Given the description of an element on the screen output the (x, y) to click on. 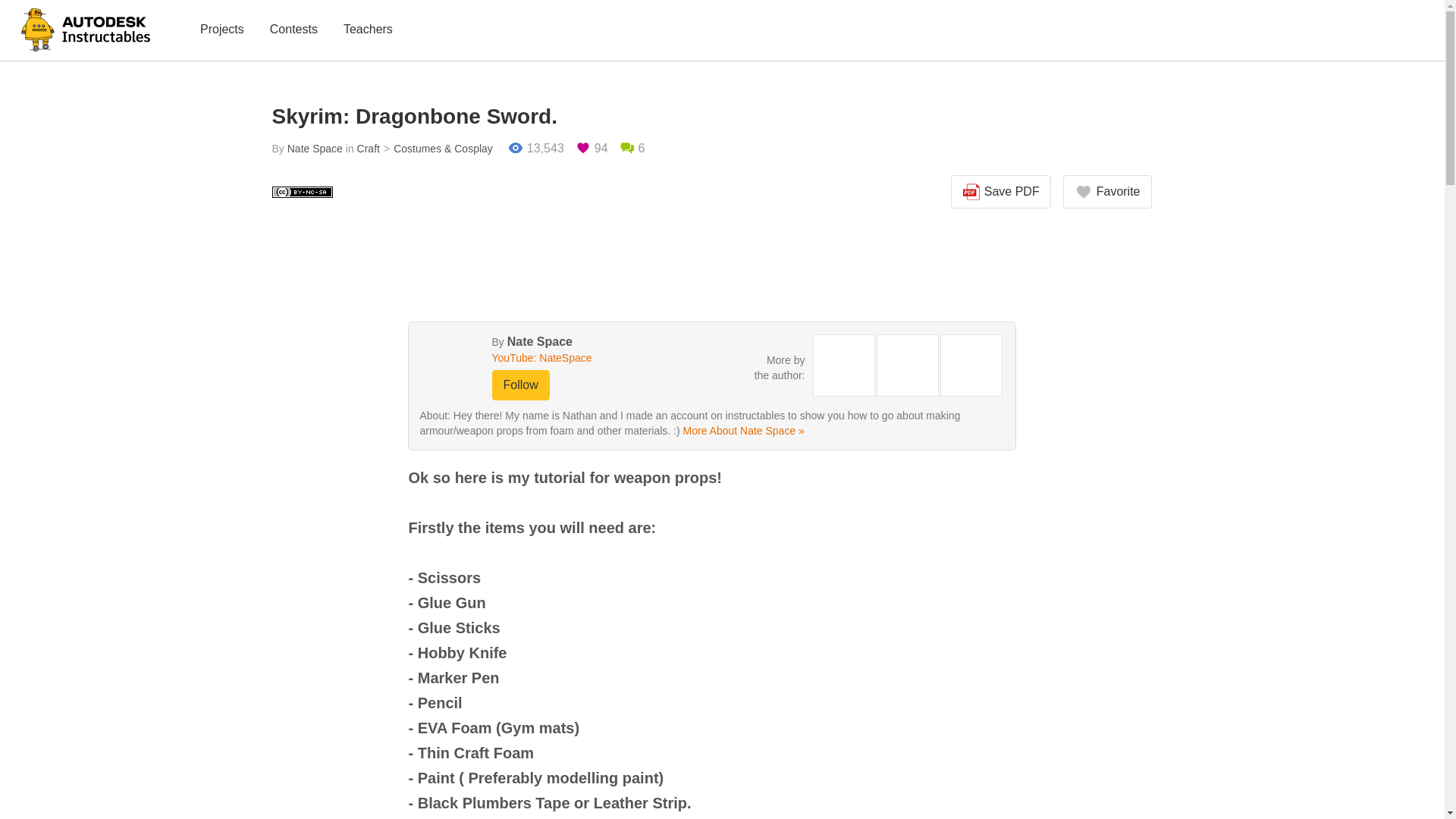
Teachers (368, 30)
Projects (221, 30)
Nate Space (539, 341)
Save PDF (1000, 191)
Craft (368, 148)
6 (632, 148)
Contests (293, 30)
YouTube: NateSpace (570, 358)
Favorite (1106, 191)
Nate Space (314, 148)
